Given the description of an element on the screen output the (x, y) to click on. 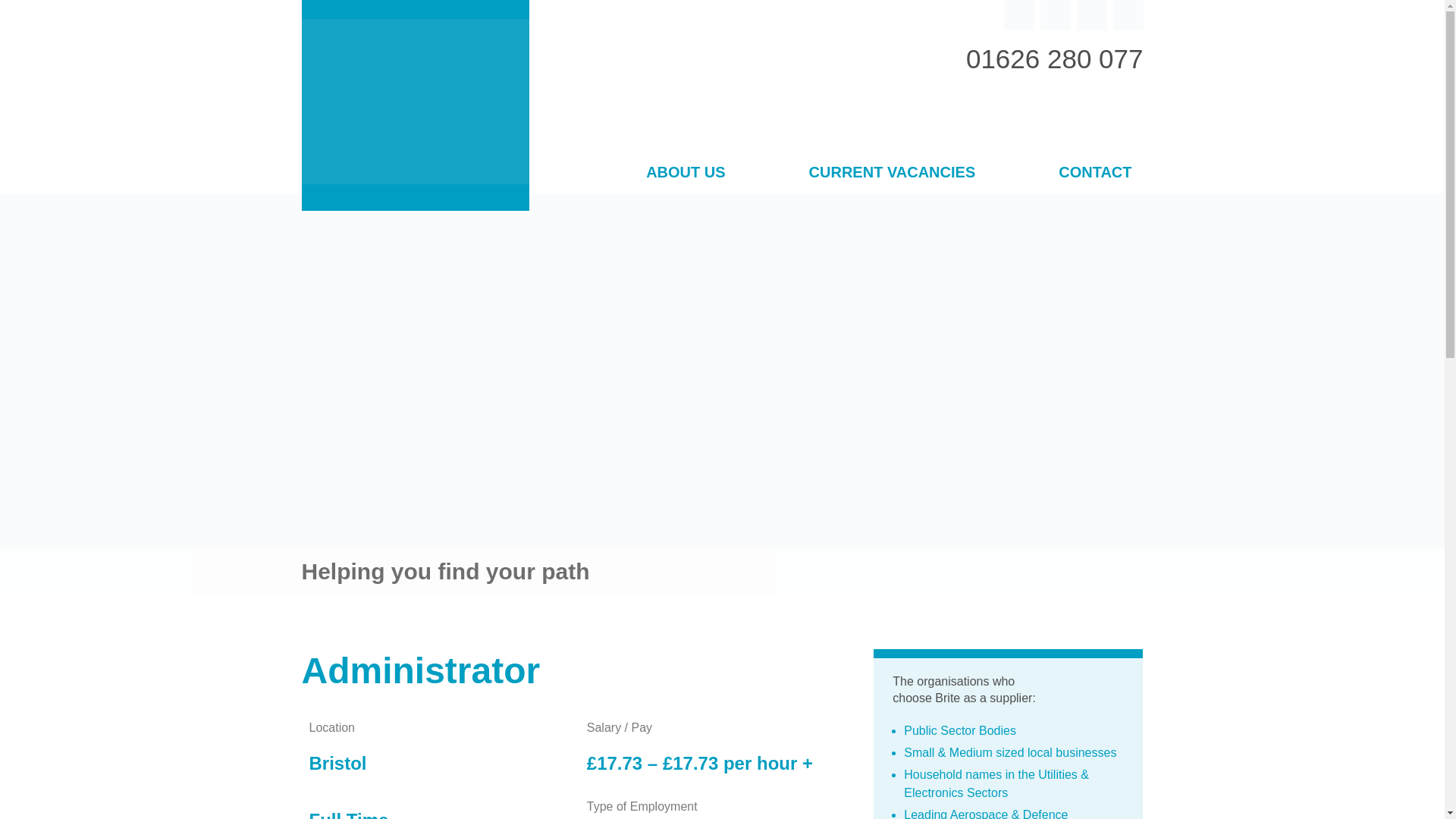
CONTACT (1094, 173)
Contact (1094, 173)
About Us (685, 173)
ABOUT US (685, 173)
Current Vacancies (892, 173)
CURRENT VACANCIES (892, 173)
